Given the description of an element on the screen output the (x, y) to click on. 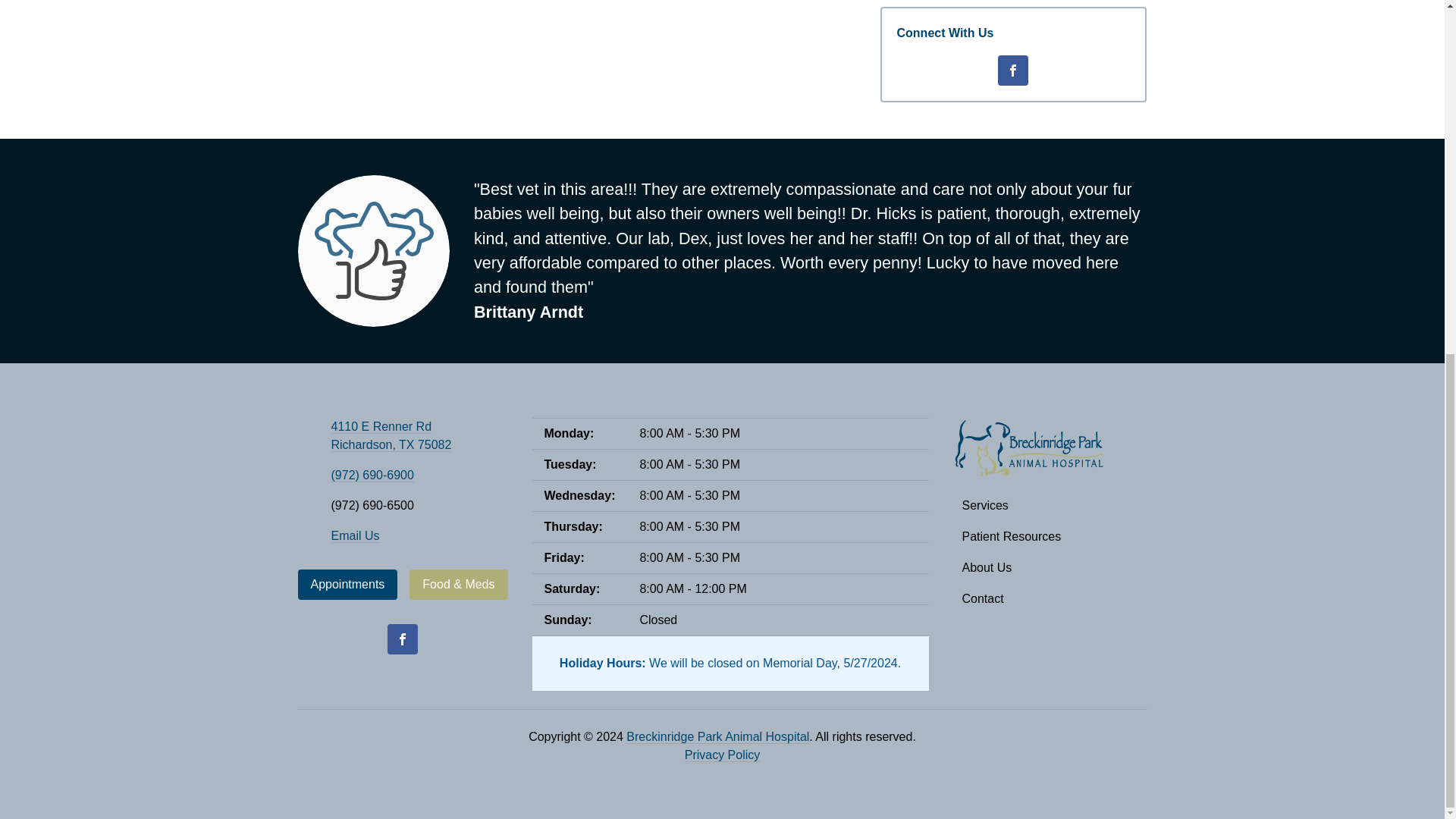
Call Us (371, 475)
Facebook (402, 639)
Facebook (1012, 70)
Top (1408, 224)
Email Us (354, 535)
Open this Address on Google Maps (390, 436)
Appointments (347, 584)
